Given the description of an element on the screen output the (x, y) to click on. 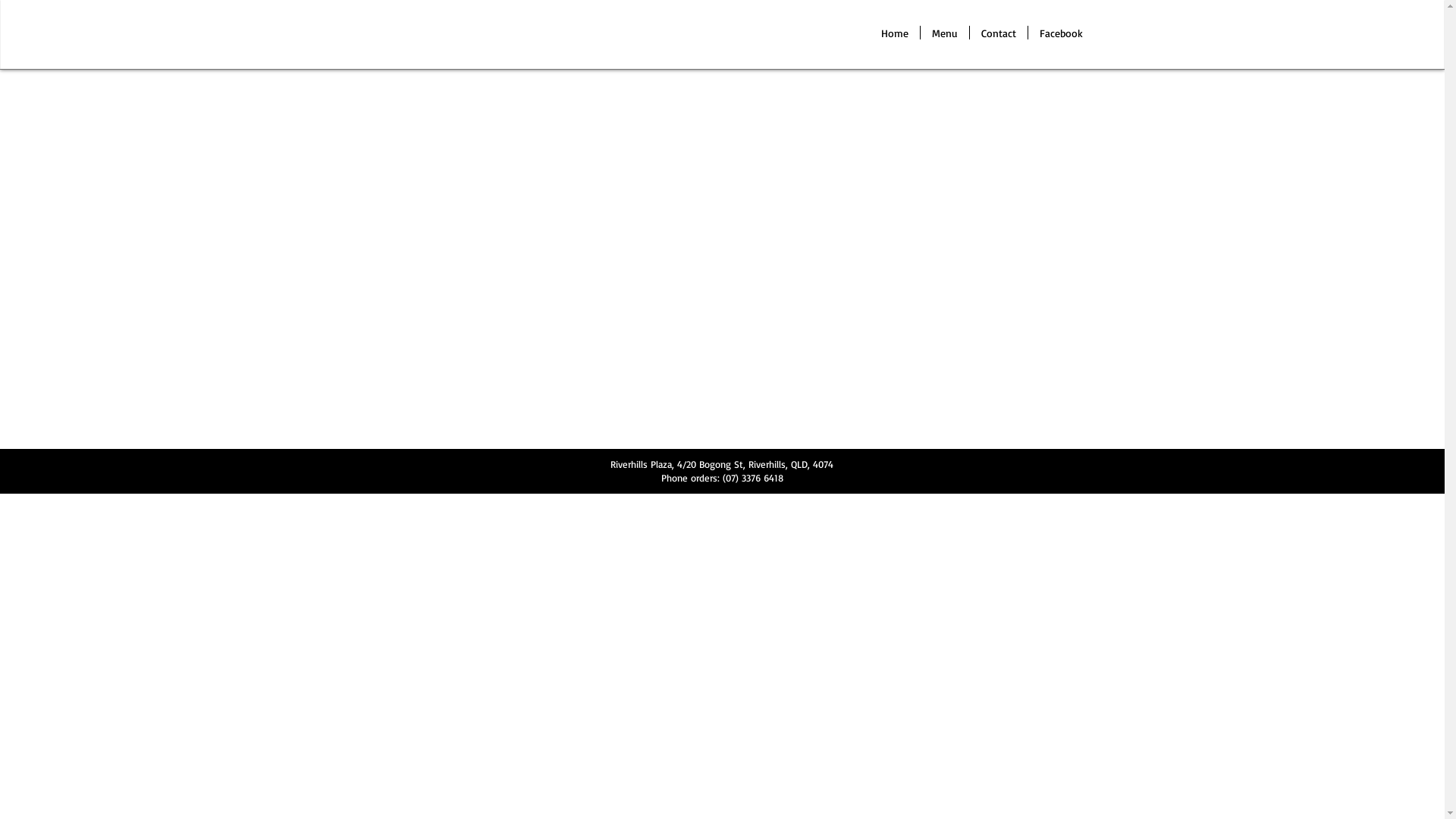
Menu Element type: text (944, 32)
Facebook Element type: text (1061, 32)
Home Element type: text (894, 32)
Contact Element type: text (997, 32)
